Given the description of an element on the screen output the (x, y) to click on. 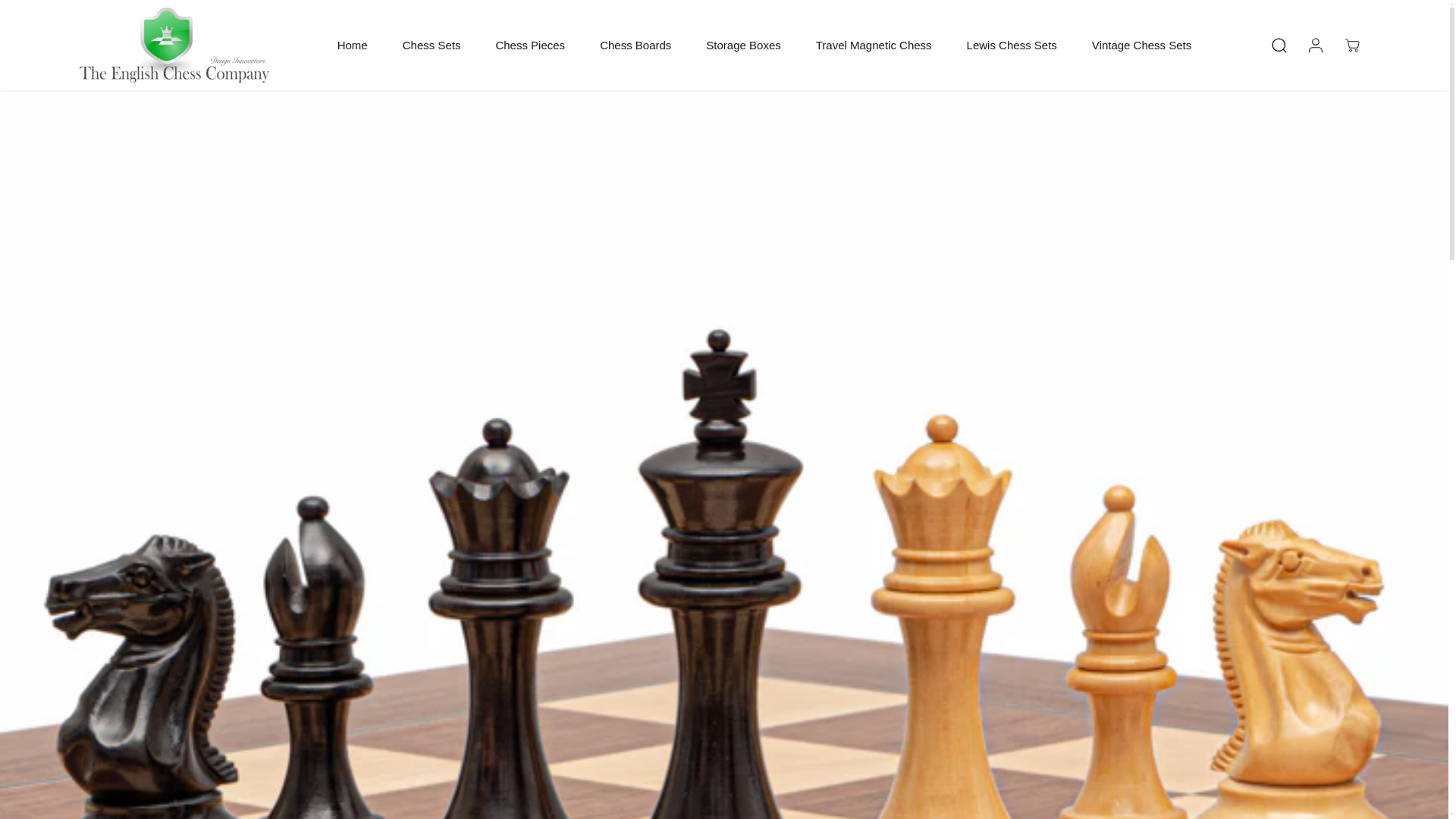
Cart (1351, 45)
SKIP TO CONTENT (60, 18)
Search (1278, 45)
Log in (1315, 45)
